Given the description of an element on the screen output the (x, y) to click on. 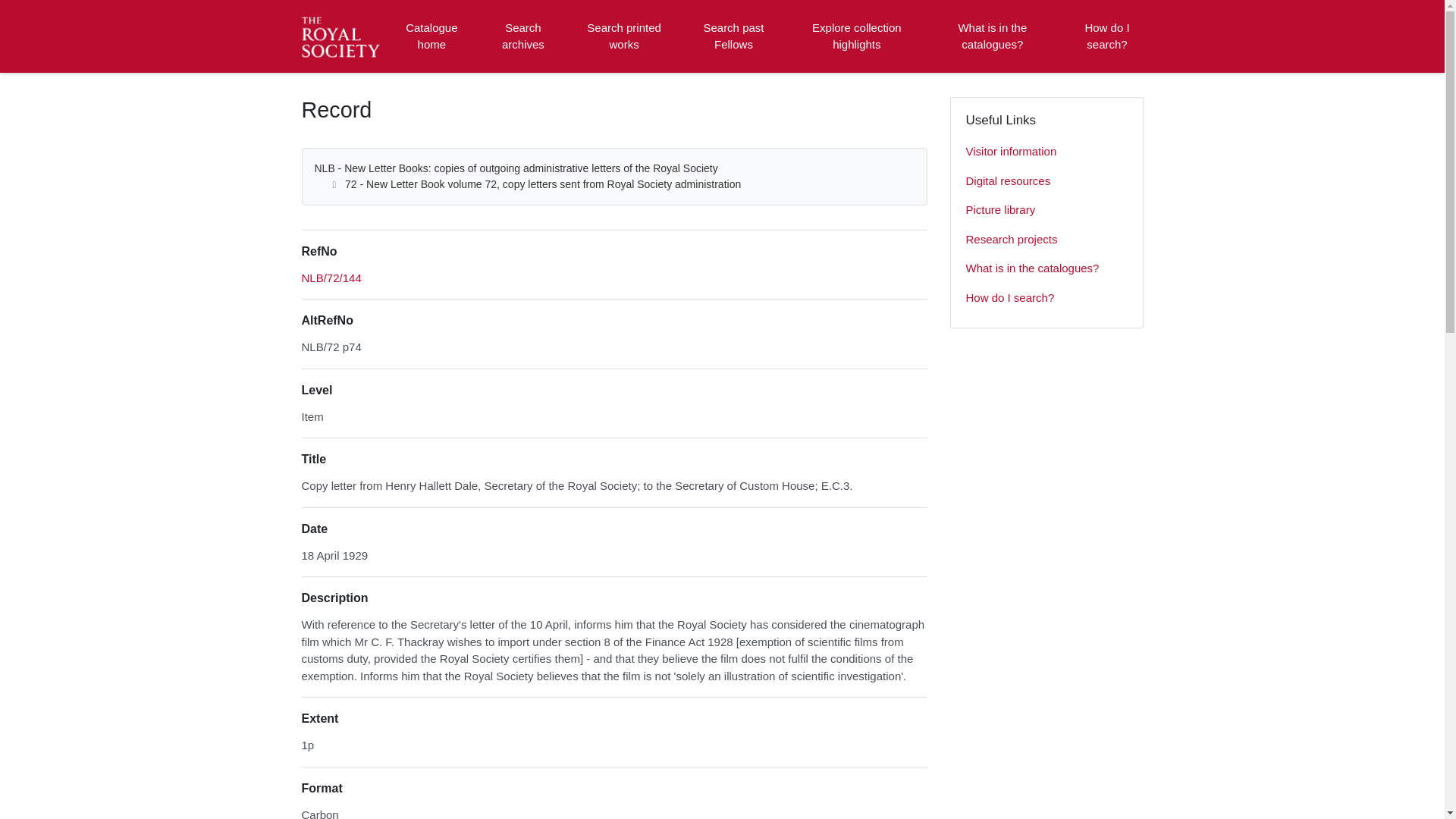
Homepage (343, 36)
Digital resources (1046, 181)
How do I search? (1106, 36)
Catalogue home (431, 36)
Explore collection highlights (856, 36)
Picture library (1046, 210)
Search archives (522, 36)
Search past Fellows (732, 36)
Search printed works (624, 36)
What is in the catalogues? (991, 36)
Browse record in hierarchy. (331, 277)
Research projects (1046, 239)
How do I search? (1046, 297)
